Given the description of an element on the screen output the (x, y) to click on. 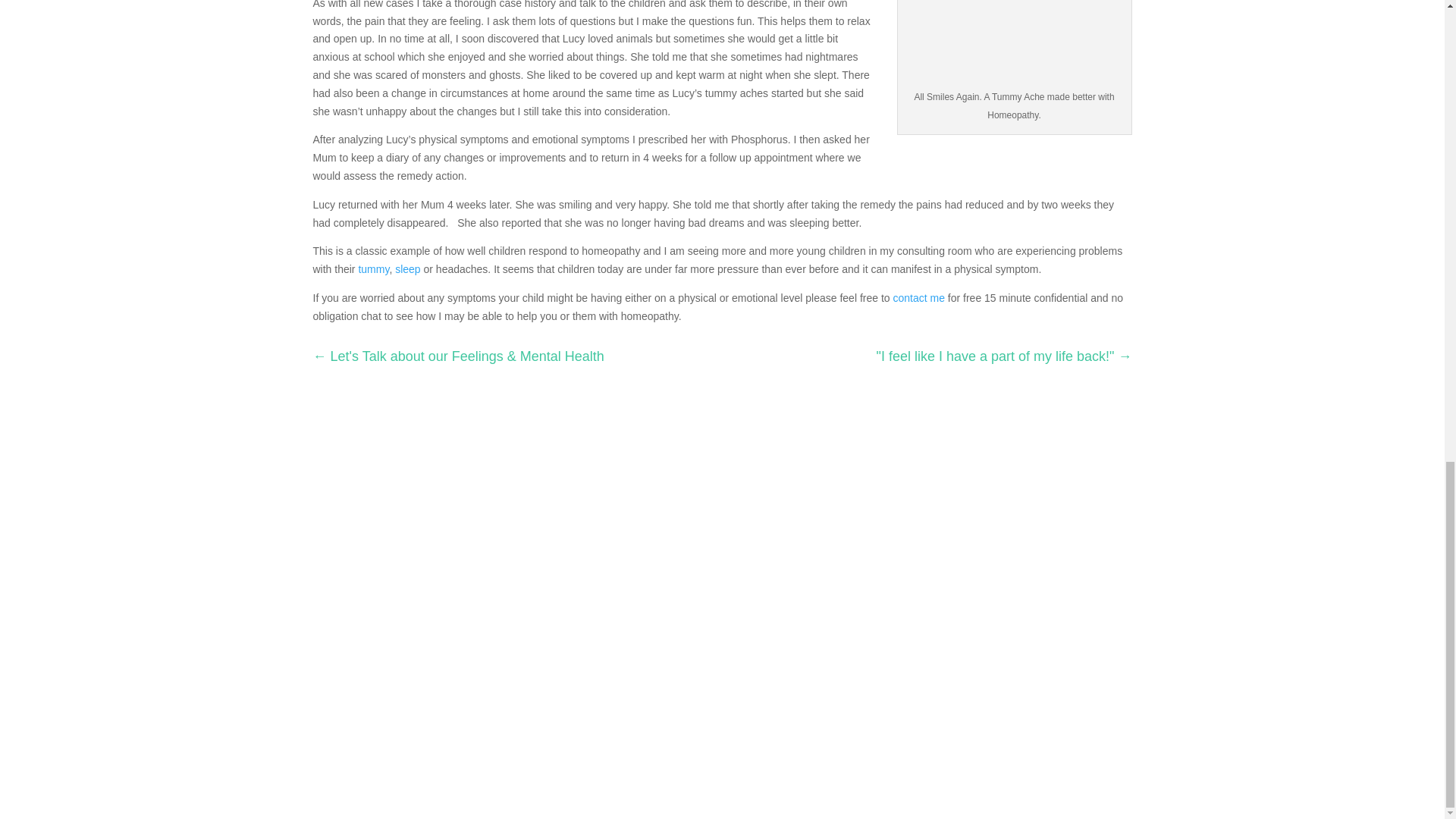
contact me (919, 297)
sleep (407, 268)
tummy (373, 268)
